Given the description of an element on the screen output the (x, y) to click on. 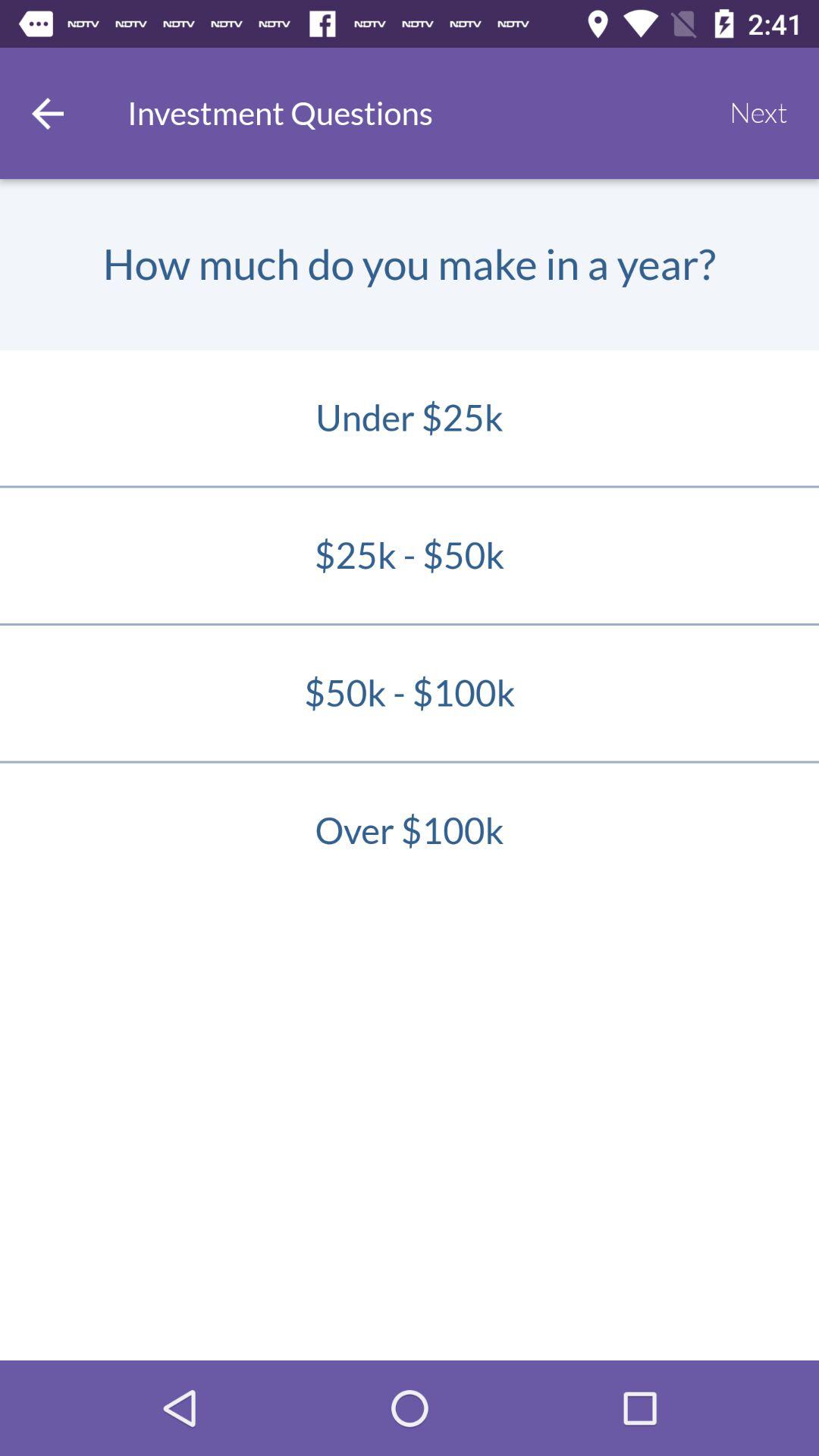
press item next to the investment questions (47, 113)
